Given the description of an element on the screen output the (x, y) to click on. 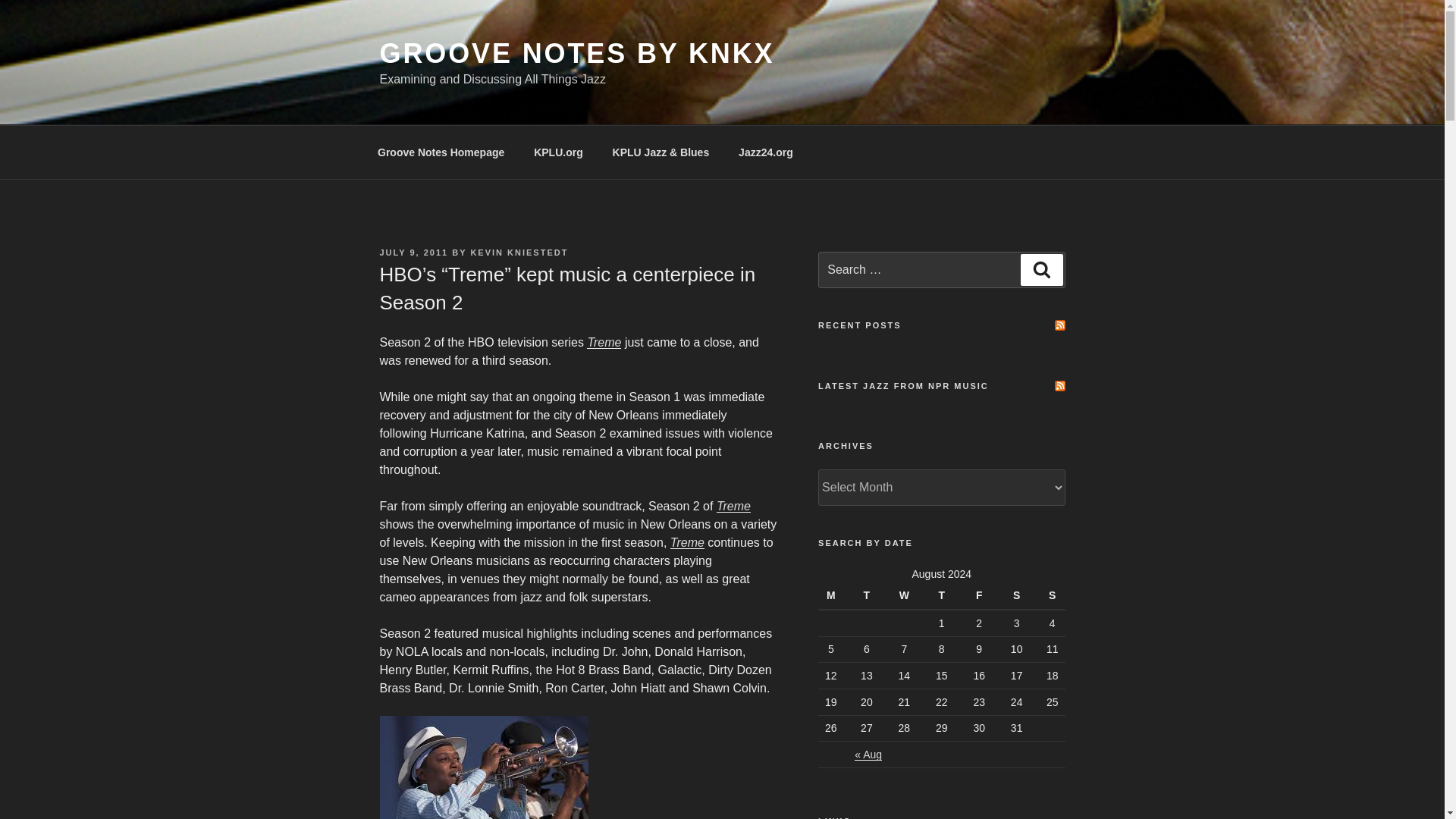
KEVIN KNIESTEDT (518, 252)
Thursday (941, 595)
Jazz24.org (765, 151)
Treme (603, 341)
JULY 9, 2011 (413, 252)
GROOVE NOTES BY KNKX (576, 52)
Monday (832, 595)
kermit (483, 767)
Treme (686, 542)
Wednesday (904, 595)
